Given the description of an element on the screen output the (x, y) to click on. 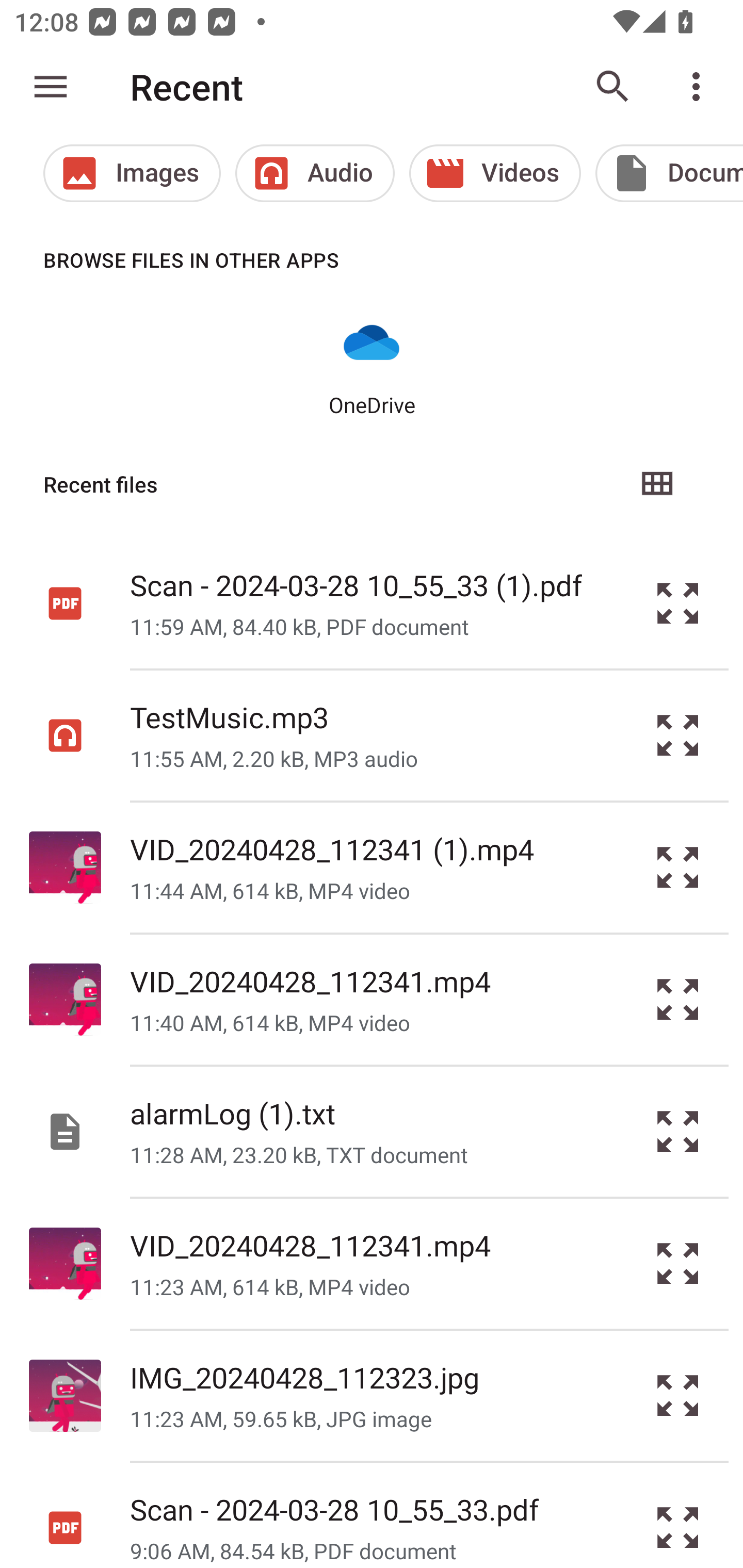
Show roots (50, 86)
Search (612, 86)
More options (699, 86)
Images (131, 173)
Audio (314, 173)
Videos (495, 173)
Documents (669, 173)
OneDrive (371, 365)
Grid view (655, 484)
Preview the file TestMusic.mp3 (677, 736)
Preview the file VID_20240428_112341 (1).mp4 (677, 867)
Preview the file VID_20240428_112341.mp4 (677, 999)
Preview the file alarmLog (1).txt (677, 1131)
Preview the file VID_20240428_112341.mp4 (677, 1262)
Preview the file IMG_20240428_112323.jpg (677, 1396)
Preview the file Scan - 2024-03-28 10_55_33.pdf (677, 1515)
